Given the description of an element on the screen output the (x, y) to click on. 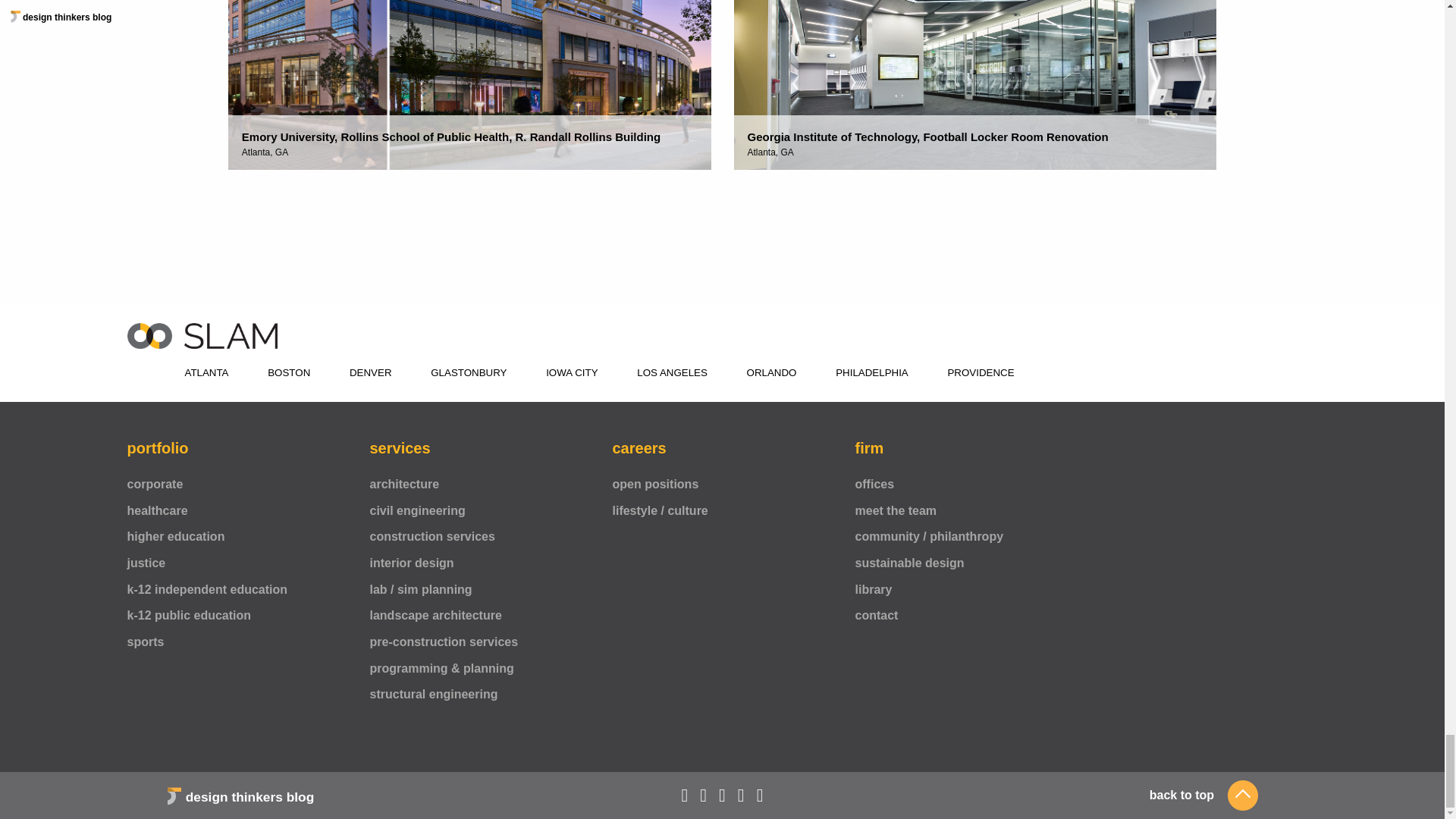
back to top (1203, 795)
